Given the description of an element on the screen output the (x, y) to click on. 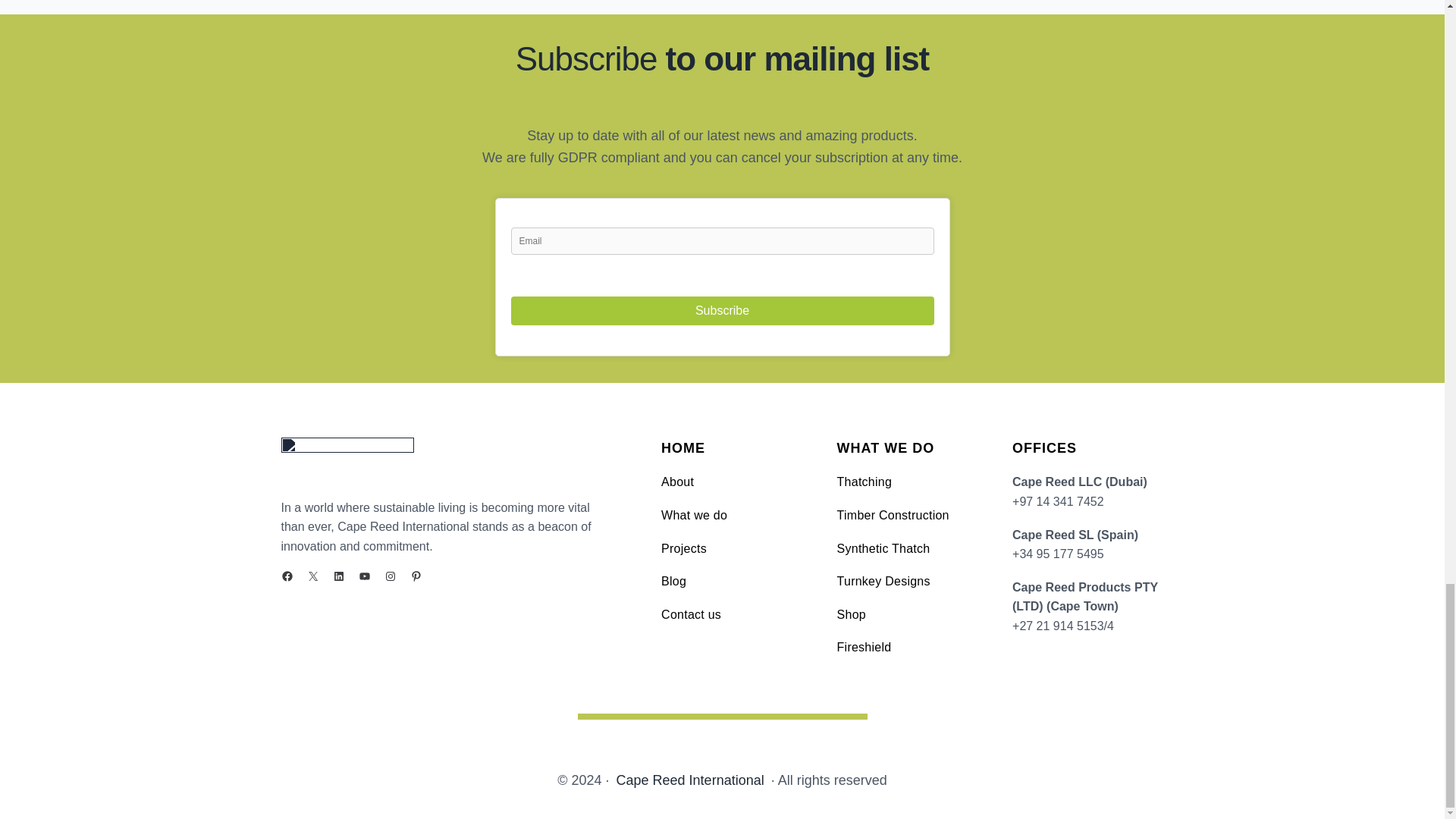
Subscribe (722, 310)
